Given the description of an element on the screen output the (x, y) to click on. 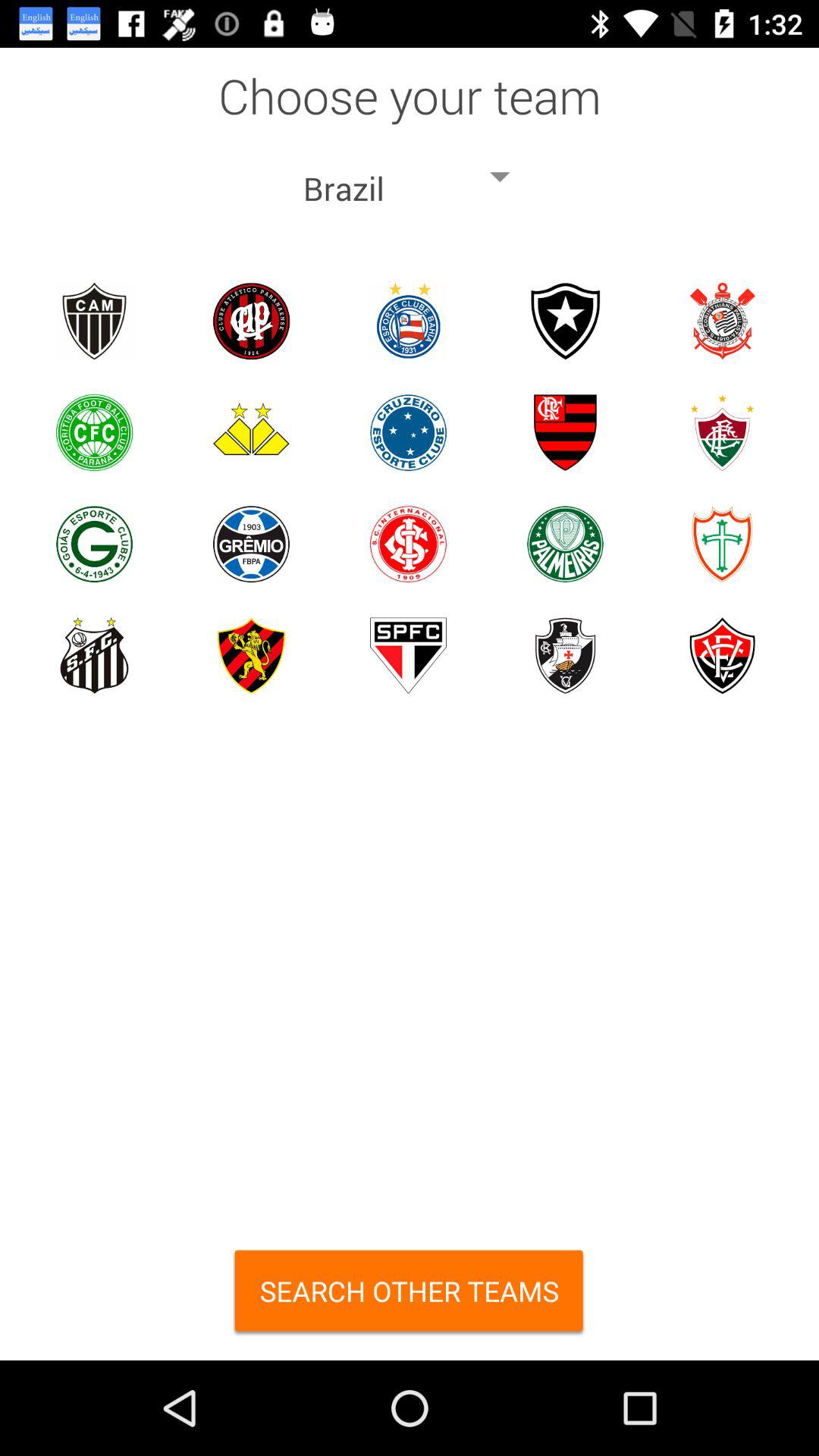
team selection (565, 655)
